Given the description of an element on the screen output the (x, y) to click on. 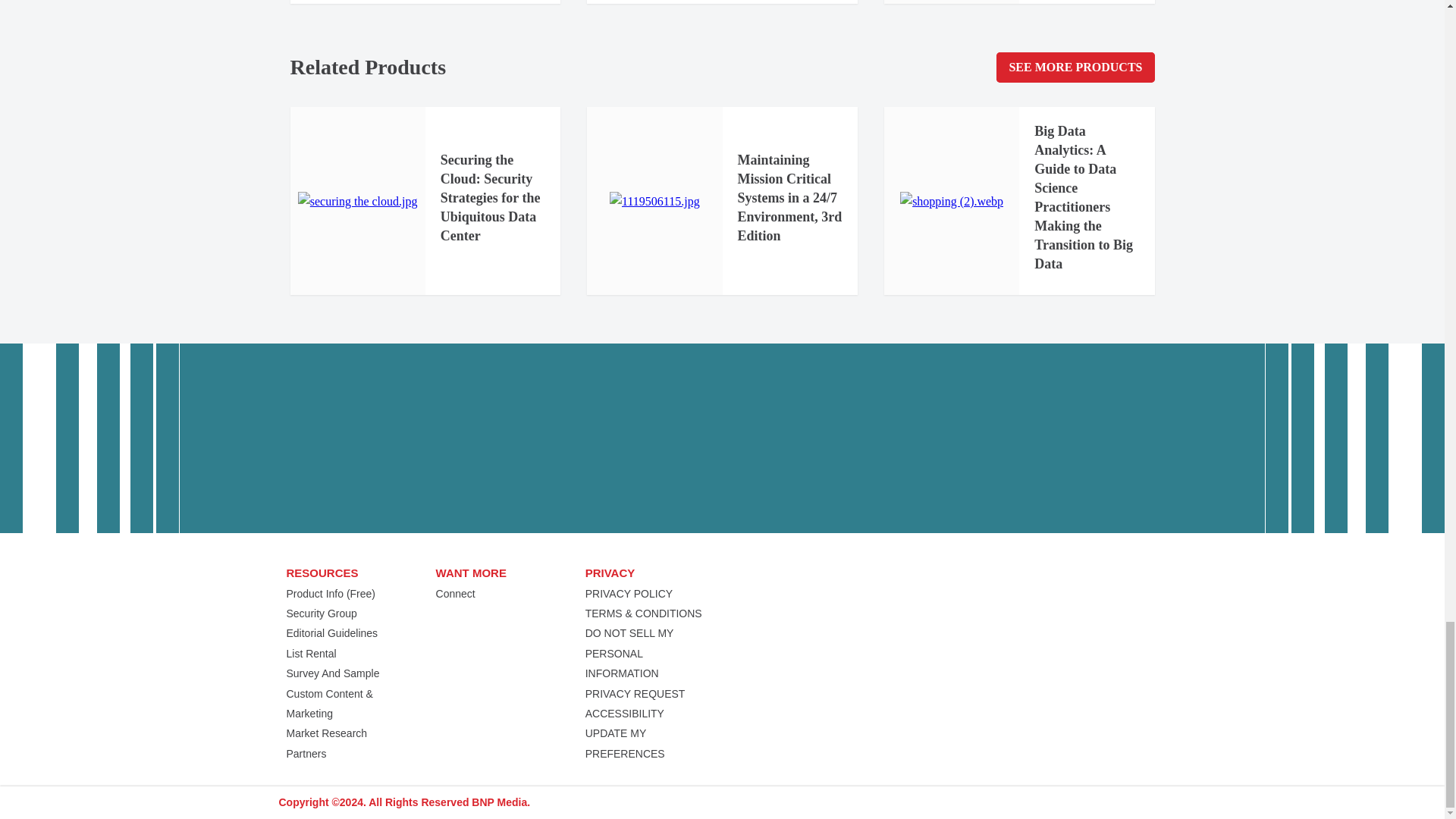
securing the cloud.jpg (357, 201)
1119506115.jpg (655, 201)
